Given the description of an element on the screen output the (x, y) to click on. 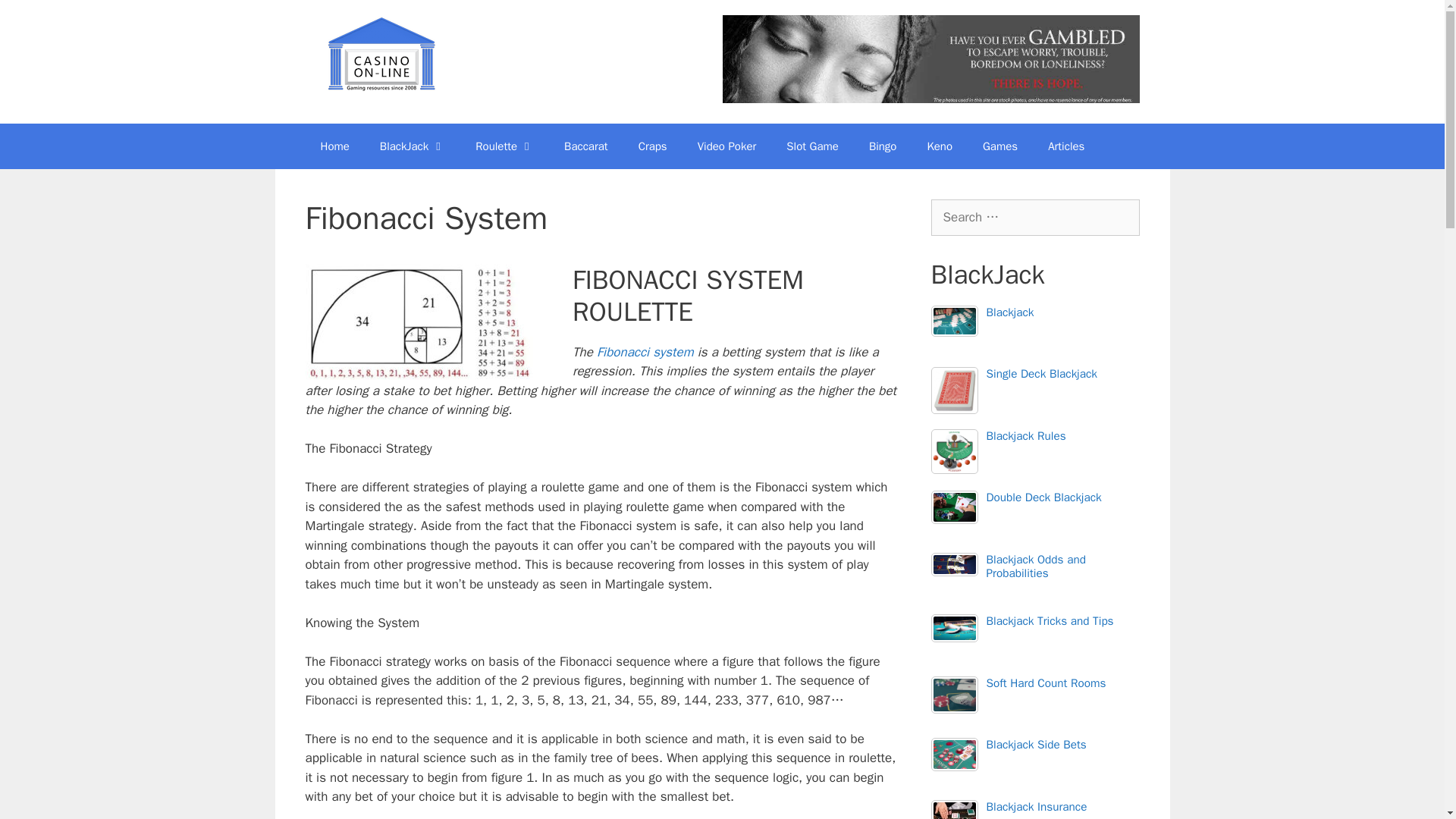
Articles (1065, 145)
Gamblers Anonymous (930, 59)
Search for: (1035, 217)
Craps (652, 145)
Video Poker (726, 145)
Keno (939, 145)
Roulette (504, 145)
Baccarat (585, 145)
Games (1000, 145)
Home (334, 145)
Fibonacci system (645, 351)
Bingo (882, 145)
BlackJack (412, 145)
Slot Game (812, 145)
